Given the description of an element on the screen output the (x, y) to click on. 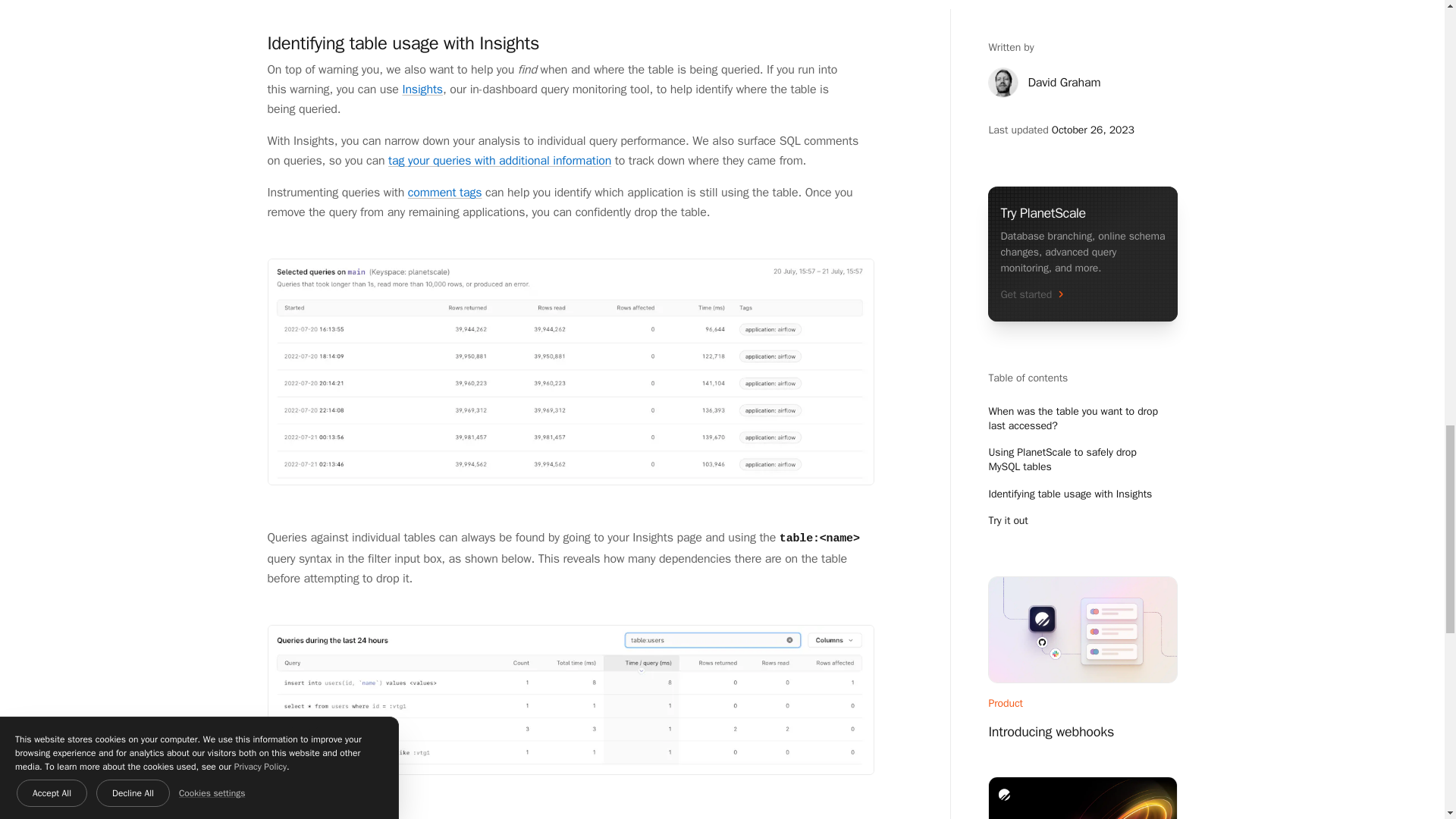
Insights (421, 89)
Identifying table usage with Insights (402, 42)
tag your queries with additional information (499, 160)
comment tags (444, 192)
